Given the description of an element on the screen output the (x, y) to click on. 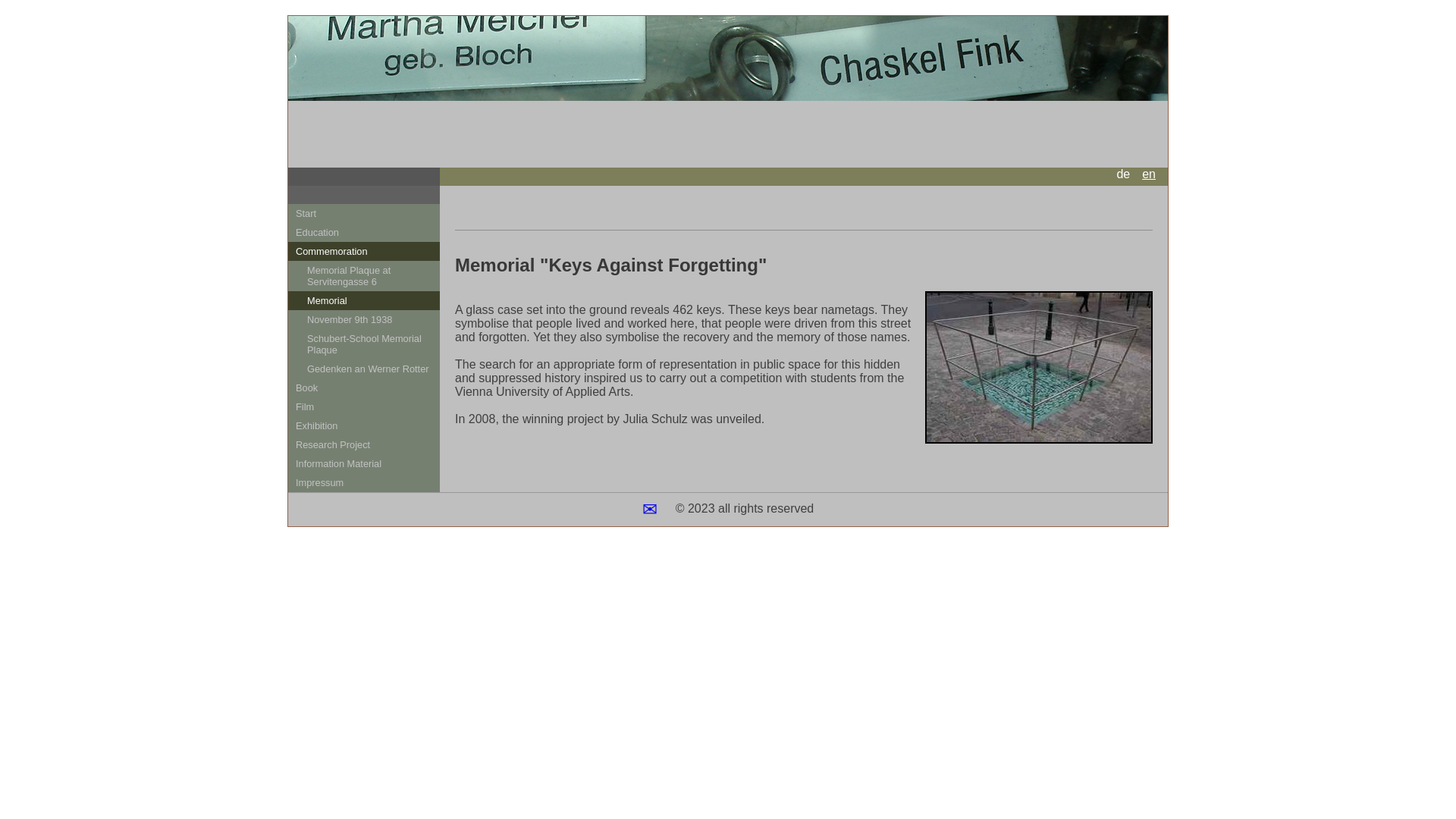
Education (363, 231)
Memorial Plaque at Servitengasse 6 (363, 276)
November 9th 1938 (363, 319)
Book (363, 387)
Film (363, 406)
de (1122, 173)
Research Project (363, 444)
Impressum (363, 482)
Information Material (363, 463)
Schubert-School Memorial Plaque (363, 344)
